Given the description of an element on the screen output the (x, y) to click on. 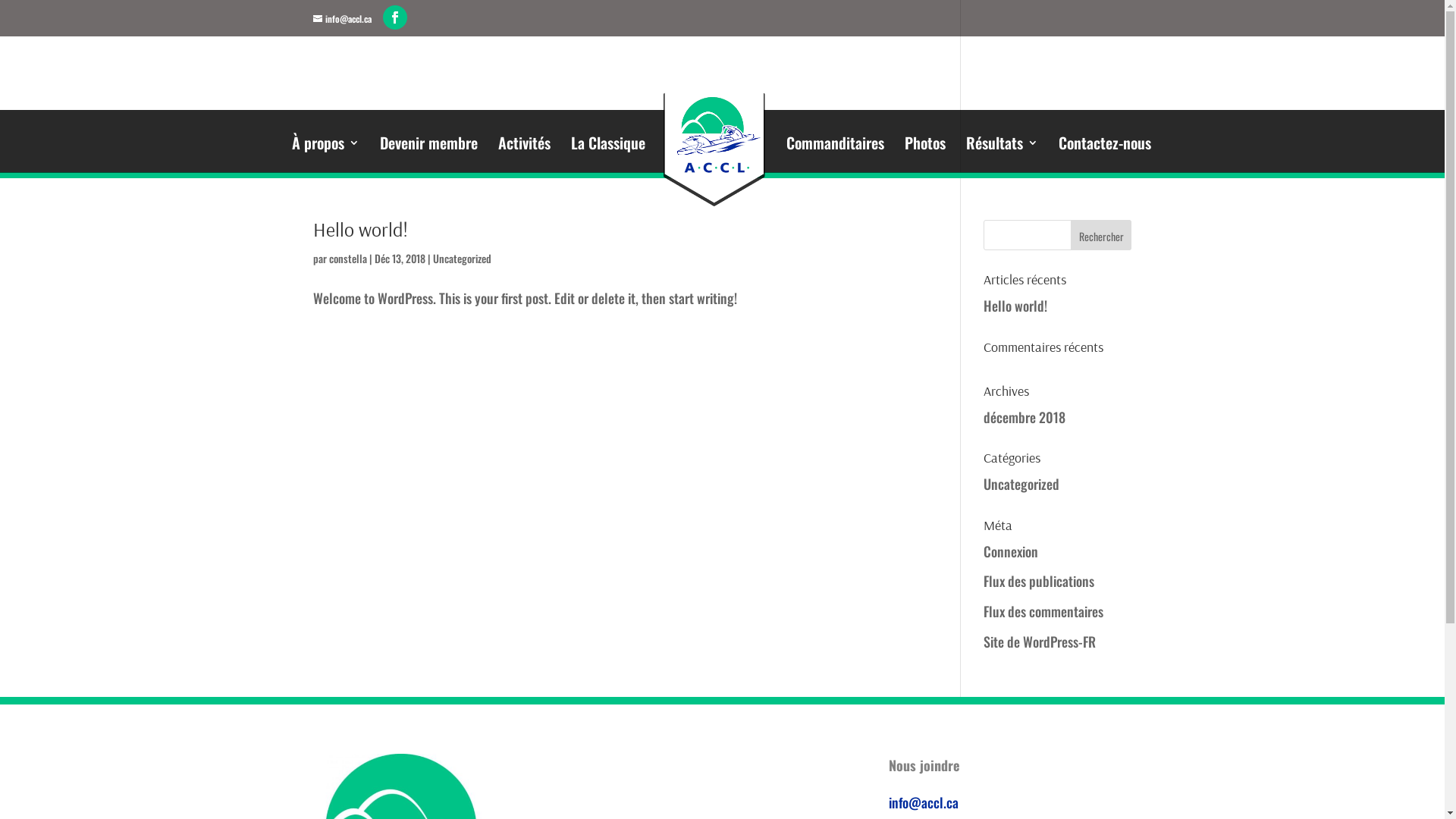
Commanditaires Element type: text (835, 147)
Contactez-nous Element type: text (1104, 147)
info@accl.ca Element type: text (923, 802)
Uncategorized Element type: text (461, 258)
Connexion Element type: text (1010, 551)
constella Element type: text (348, 258)
Devenir membre Element type: text (428, 147)
Rechercher Element type: text (1101, 234)
Uncategorized Element type: text (1021, 483)
Hello world! Element type: text (1015, 305)
Flux des publications Element type: text (1038, 580)
Hello world! Element type: text (359, 228)
info@accl.ca Element type: text (341, 18)
Flux des commentaires Element type: text (1043, 611)
La Classique Element type: text (608, 147)
Photos Element type: text (924, 147)
Site de WordPress-FR Element type: text (1039, 641)
